Given the description of an element on the screen output the (x, y) to click on. 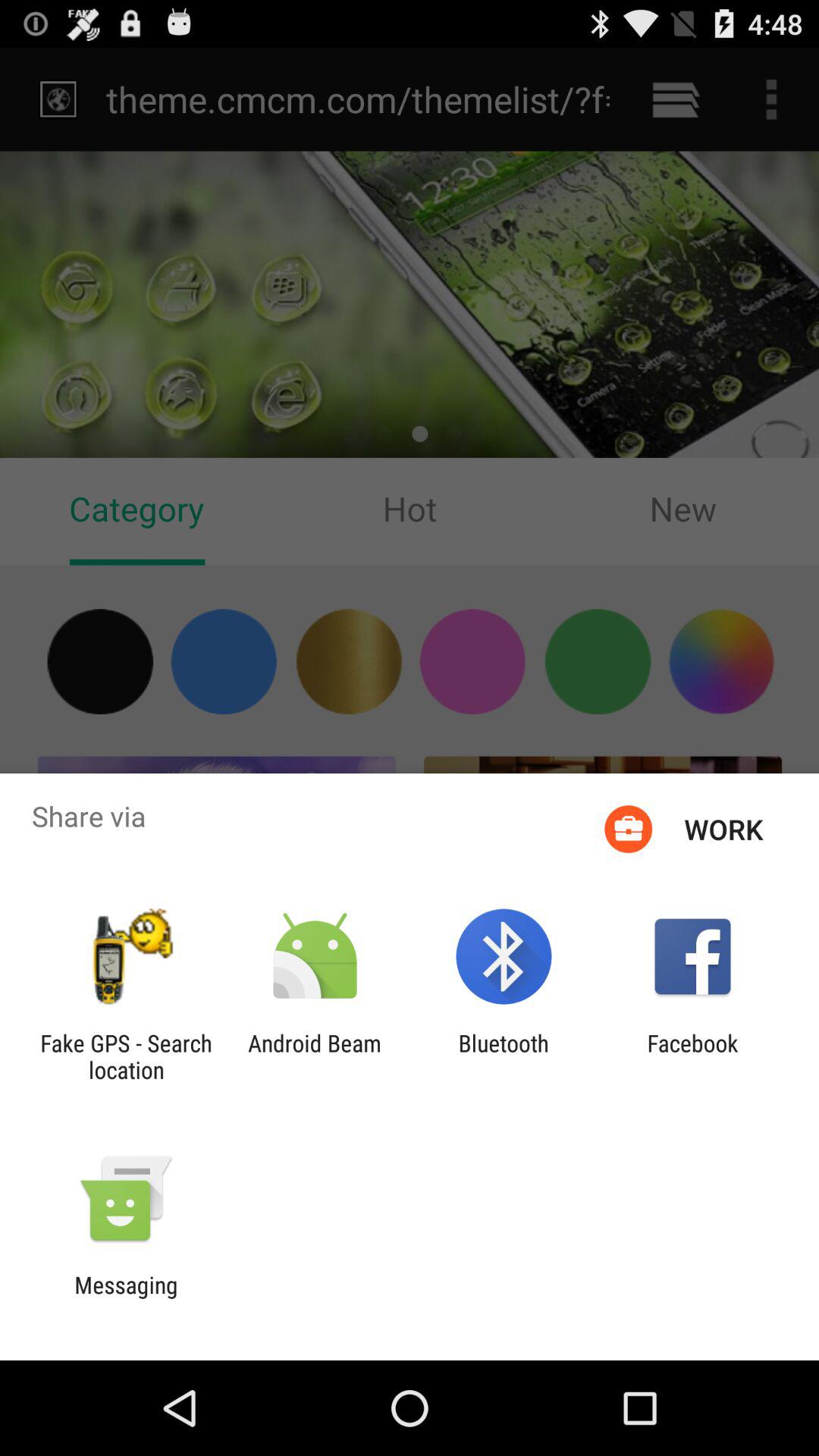
tap app next to bluetooth item (314, 1056)
